Given the description of an element on the screen output the (x, y) to click on. 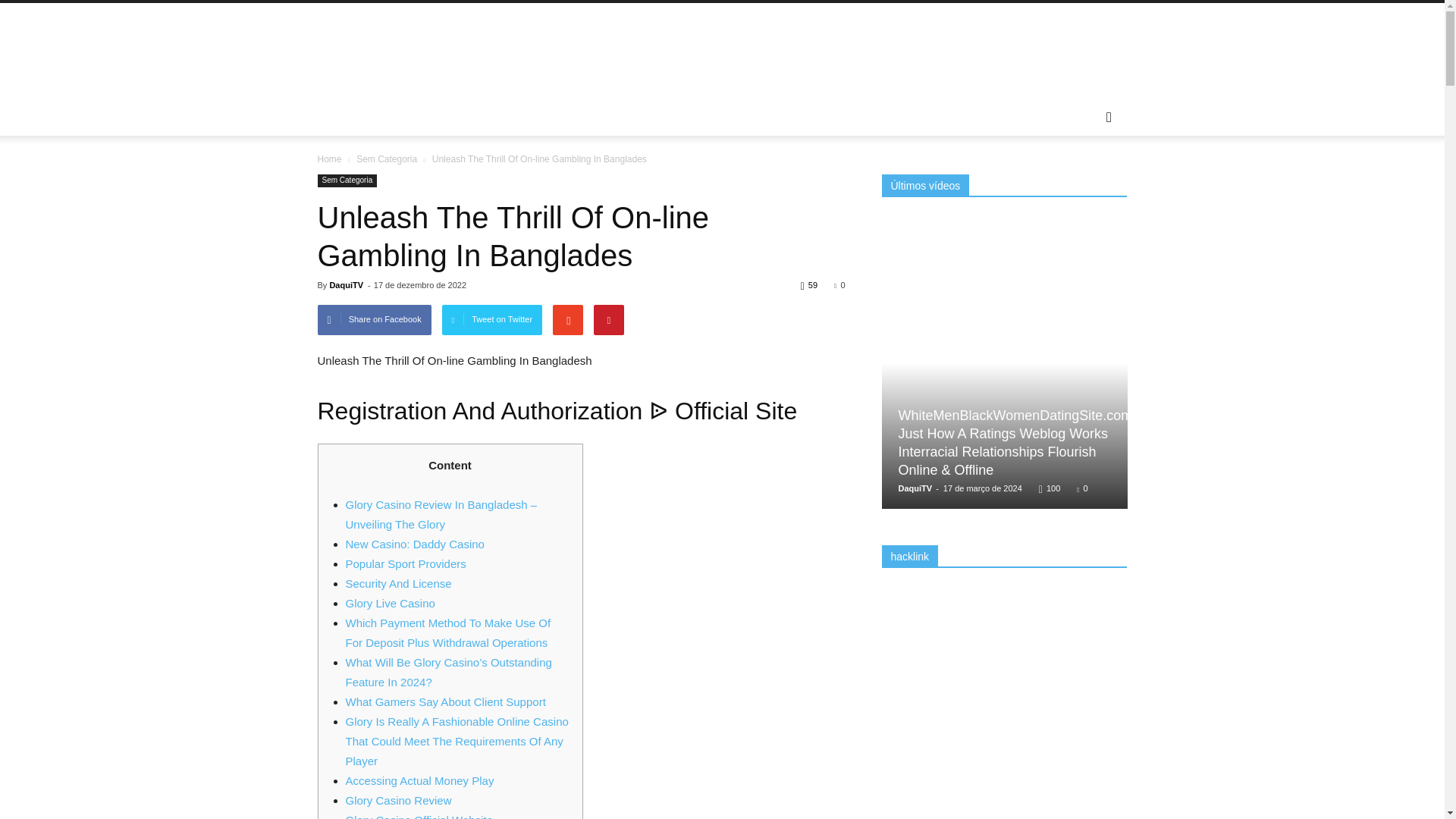
Share on Facebook (373, 319)
DaquiTV (345, 284)
Tweet on Twitter (492, 319)
Home (328, 158)
Glory Live Casino (390, 603)
Accessing Actual Money Play (420, 780)
What Gamers Say About Client Support (446, 701)
Sem Categoria (386, 158)
New Casino: Daddy Casino (415, 543)
Glory Casino Review (398, 799)
Sem Categoria (347, 180)
Security And License (398, 583)
0 (839, 284)
